Given the description of an element on the screen output the (x, y) to click on. 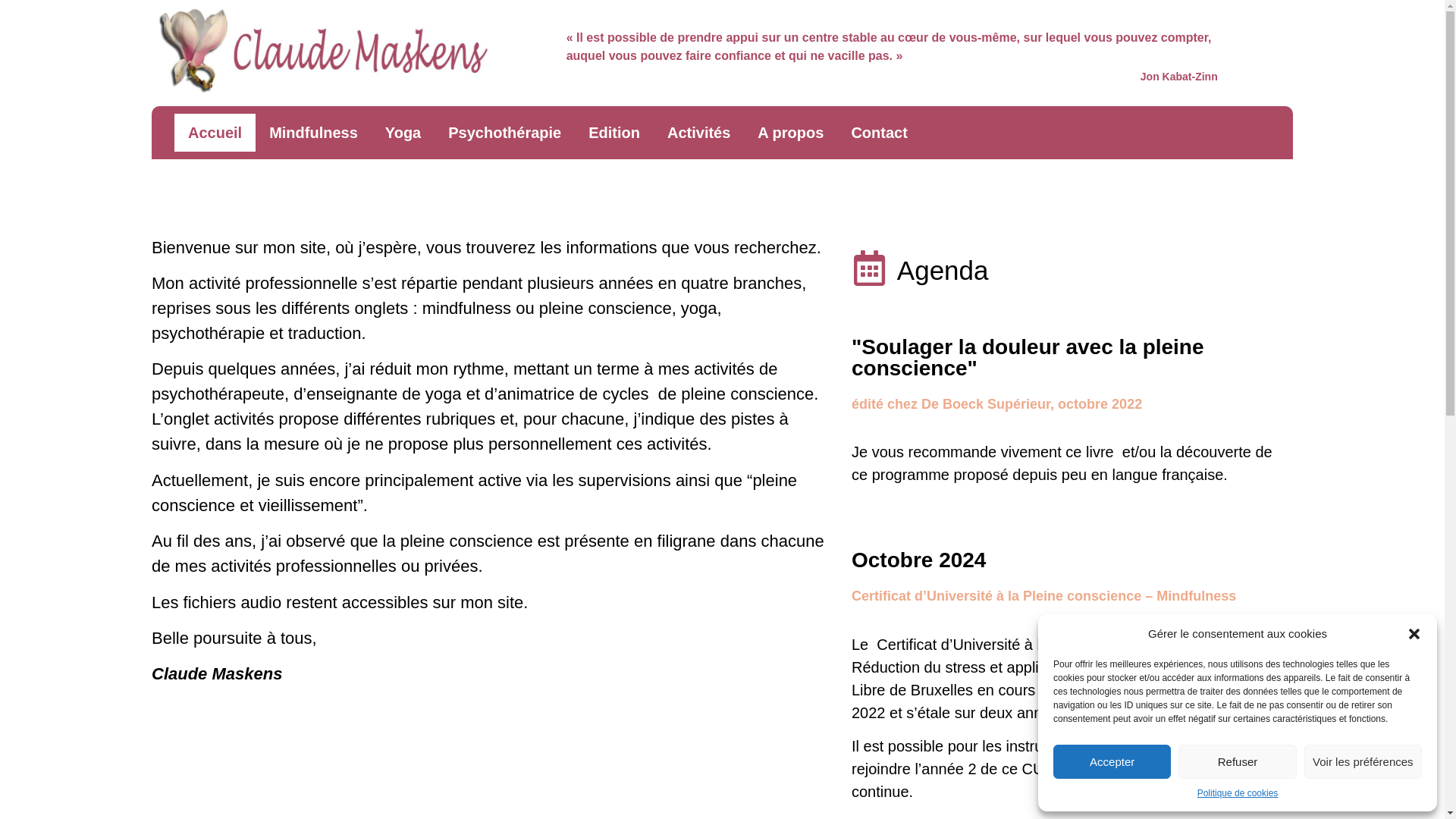
Yoga Element type: text (402, 132)
Edition Element type: text (613, 132)
Politique de cookies Element type: text (1237, 793)
A propos Element type: text (790, 132)
Accueil Element type: text (214, 132)
Refuser Element type: text (1236, 761)
Contact Element type: text (878, 132)
Accepter Element type: text (1111, 761)
Mindfulness Element type: text (313, 132)
